Given the description of an element on the screen output the (x, y) to click on. 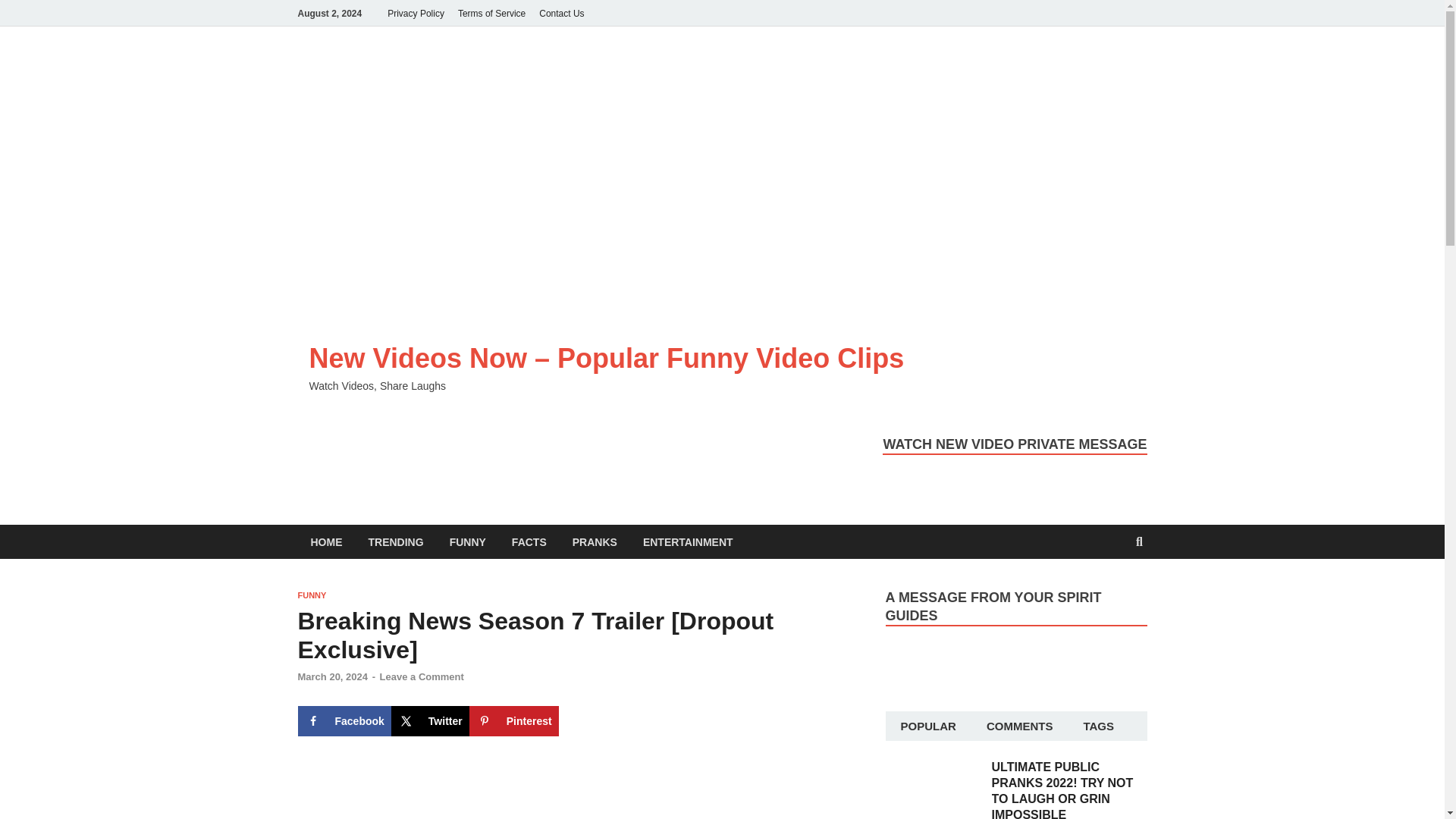
Privacy Policy (415, 13)
Contact Us (561, 13)
FUNNY (311, 594)
FACTS (529, 541)
Facebook (343, 720)
March 20, 2024 (332, 676)
Leave a Comment (422, 676)
Pinterest (513, 720)
TRENDING (395, 541)
Save to Pinterest (513, 720)
Twitter (429, 720)
ENTERTAINMENT (687, 541)
FUNNY (467, 541)
Share on X (429, 720)
HOME (326, 541)
